Given the description of an element on the screen output the (x, y) to click on. 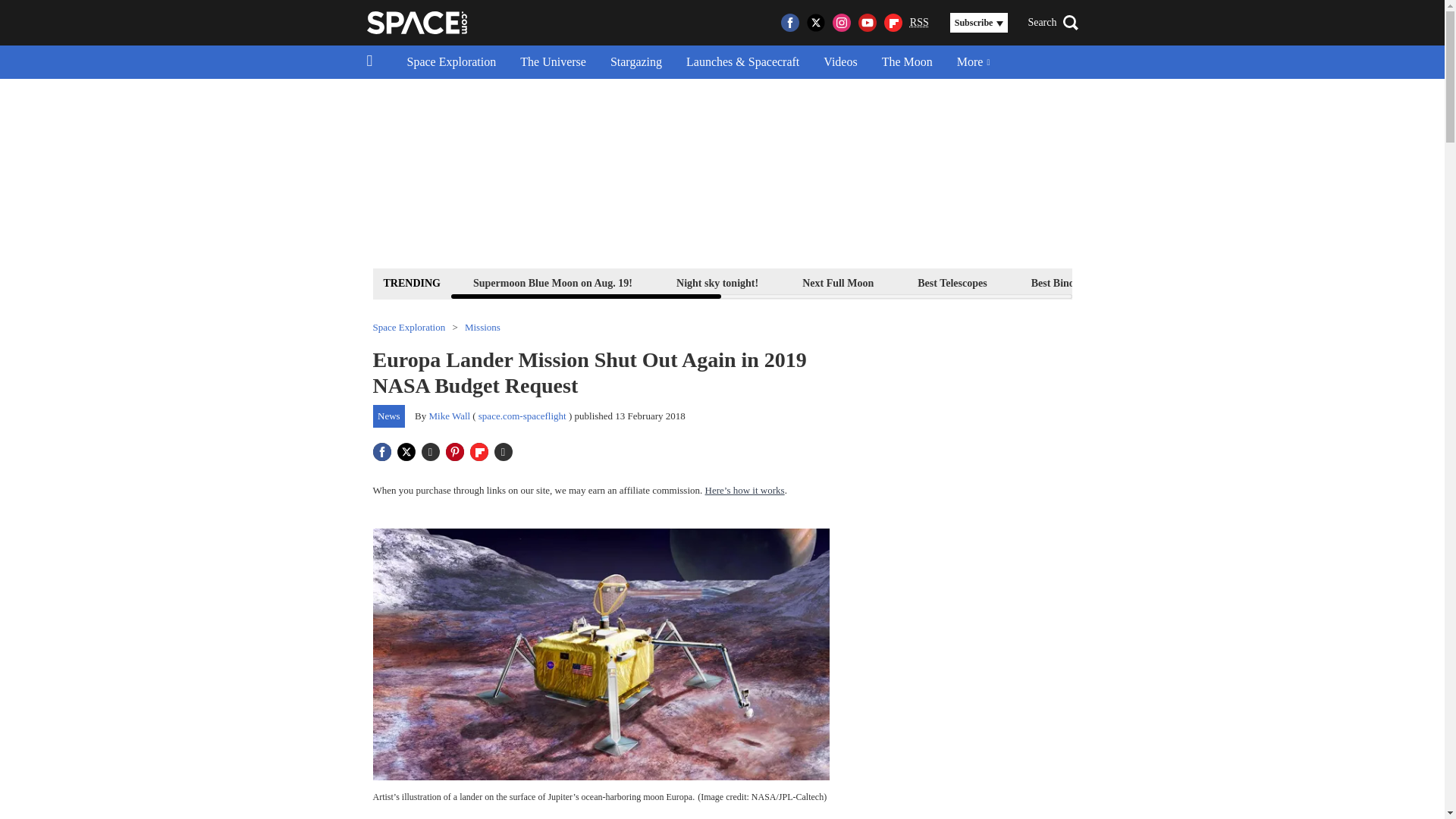
Best Binoculars (1067, 282)
Videos (839, 61)
Supermoon Blue Moon on Aug. 19! (552, 282)
Next Full Moon (837, 282)
Space Exploration (451, 61)
Night sky tonight! (716, 282)
Space Calendar (1316, 282)
Best Star Projectors (1190, 282)
Stargazing (636, 61)
Best Telescopes (951, 282)
